Given the description of an element on the screen output the (x, y) to click on. 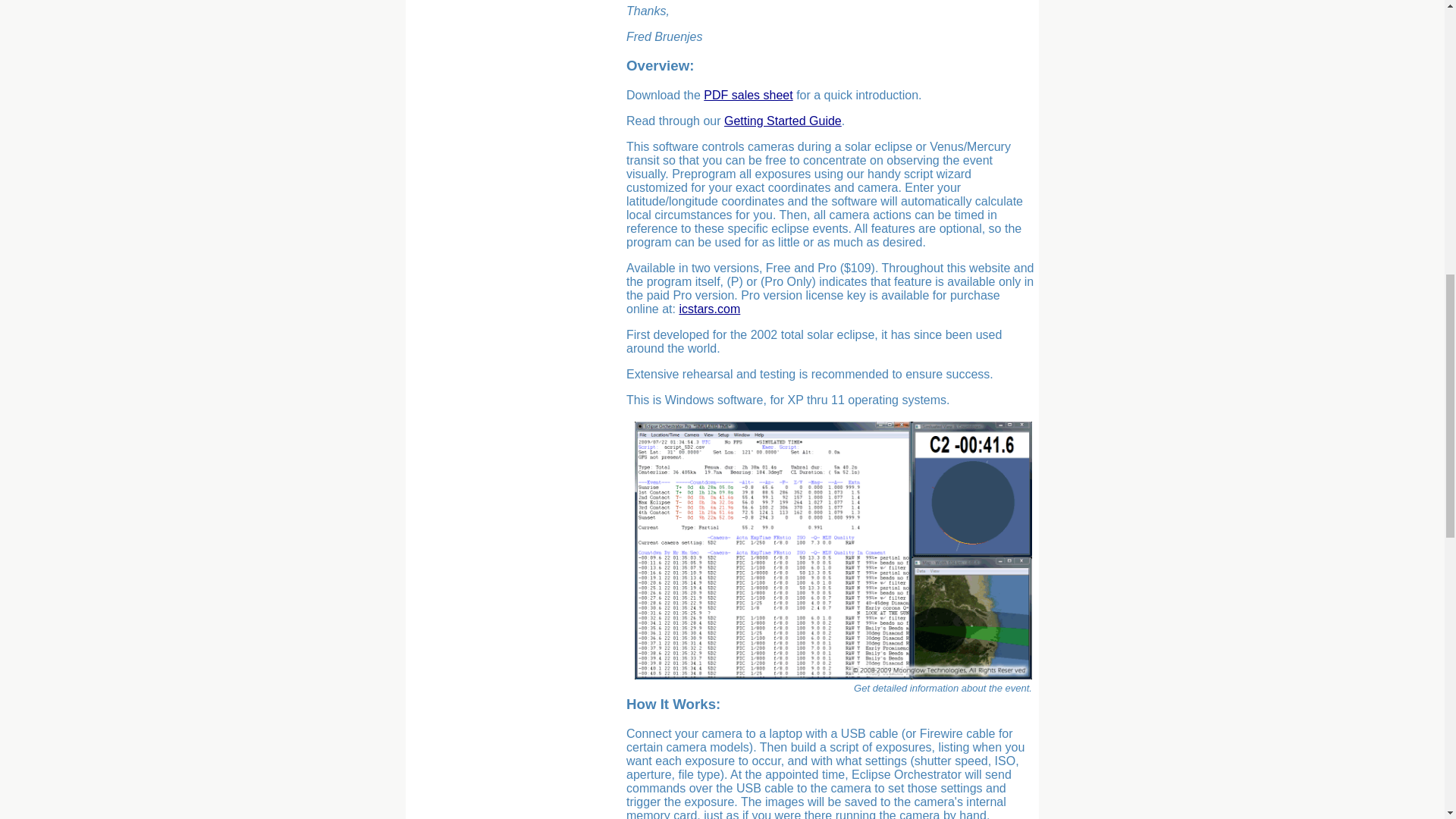
PDF sales sheet (747, 94)
icstars.com (708, 308)
Getting Started Guide (782, 120)
